Given the description of an element on the screen output the (x, y) to click on. 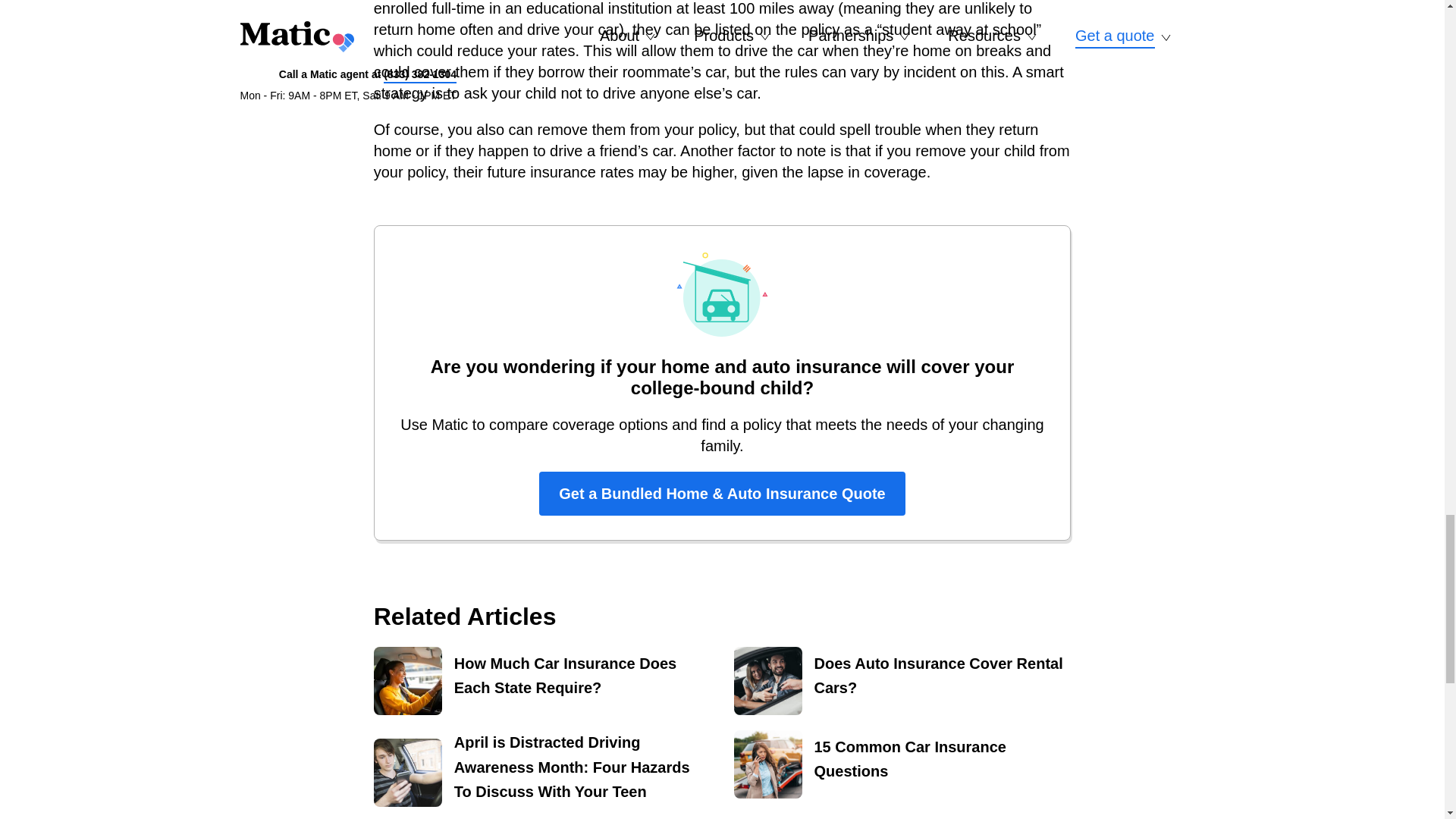
Permanent Link to Does Auto Insurance Cover Rental Cars? (902, 680)
Permanent Link to 15 Common Car Insurance Questions (902, 764)
